Given the description of an element on the screen output the (x, y) to click on. 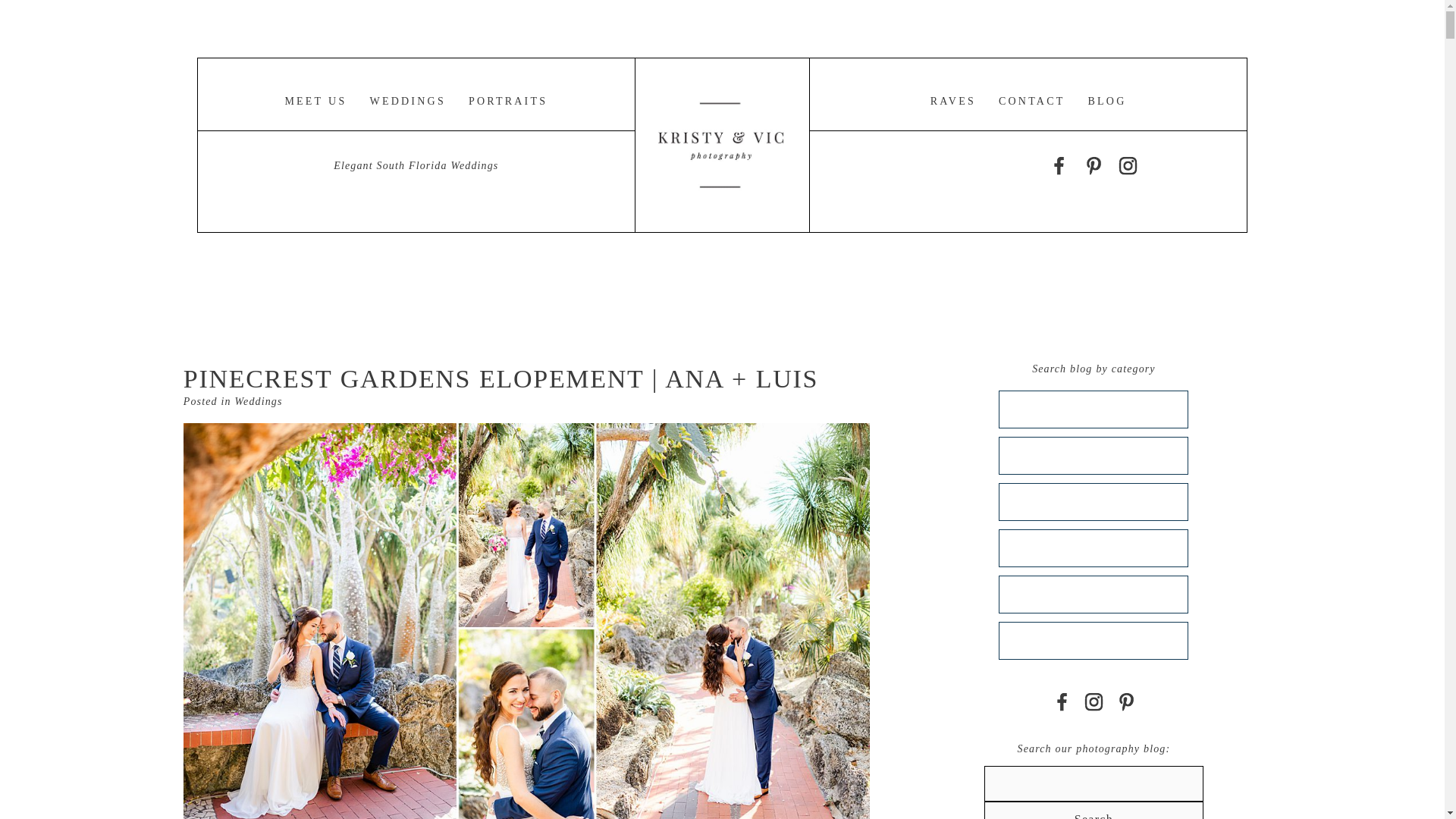
ENGAGEMENTS (1093, 455)
BLOG (1106, 101)
PORTRAITS (1093, 548)
PORTRAITS (507, 101)
CONTACT (1031, 101)
PERSONAL (1093, 594)
PHOTOGRAPHY (1093, 640)
WEDDINGS (1093, 409)
RAVES (952, 101)
WEDDINGS (407, 101)
